Given the description of an element on the screen output the (x, y) to click on. 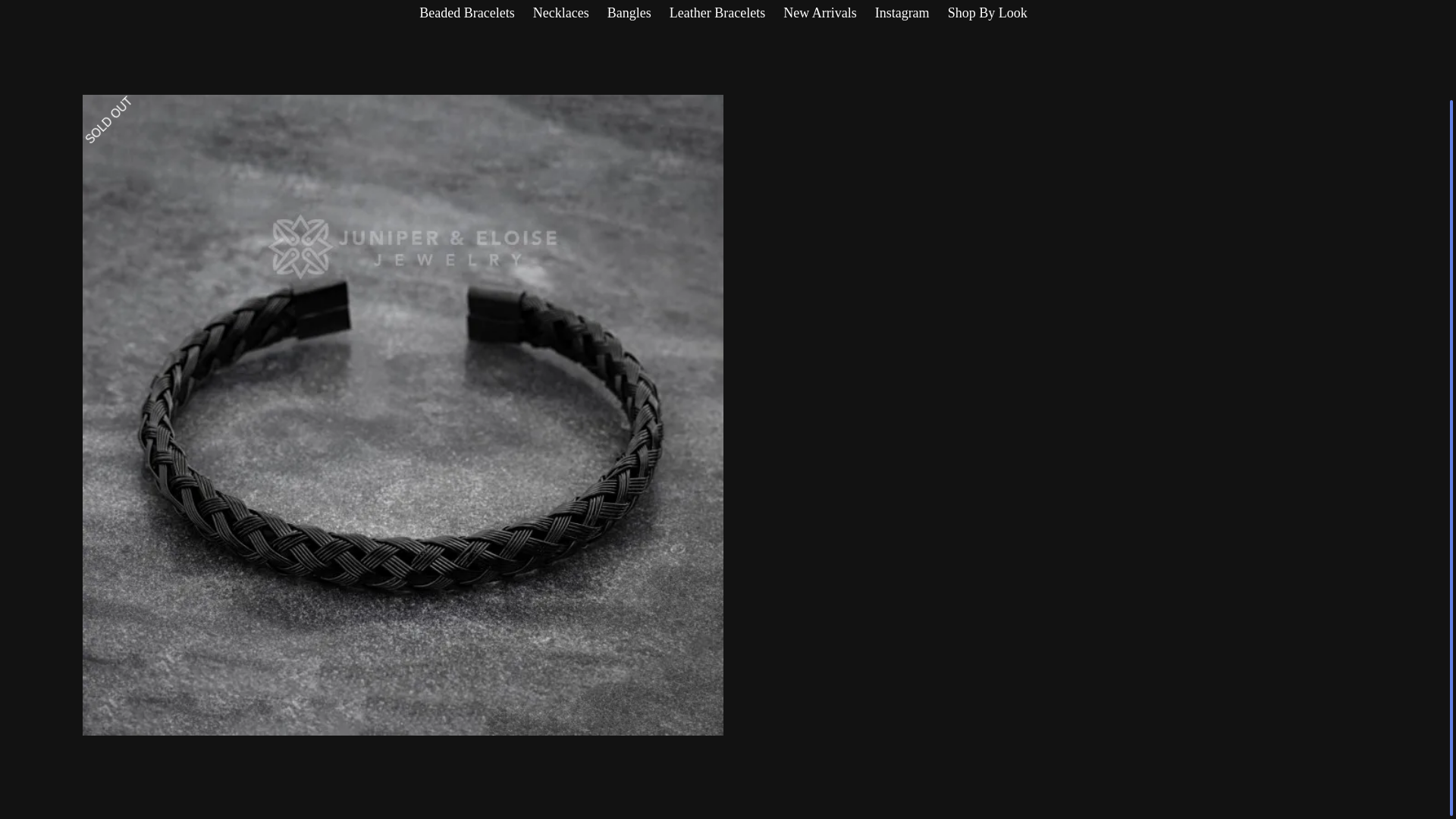
Bangles (629, 13)
Necklaces (561, 13)
New Arrivals (819, 13)
Beaded Bracelets (466, 13)
Instagram (902, 13)
Leather Bracelets (717, 13)
Shop By Look (987, 13)
